Given the description of an element on the screen output the (x, y) to click on. 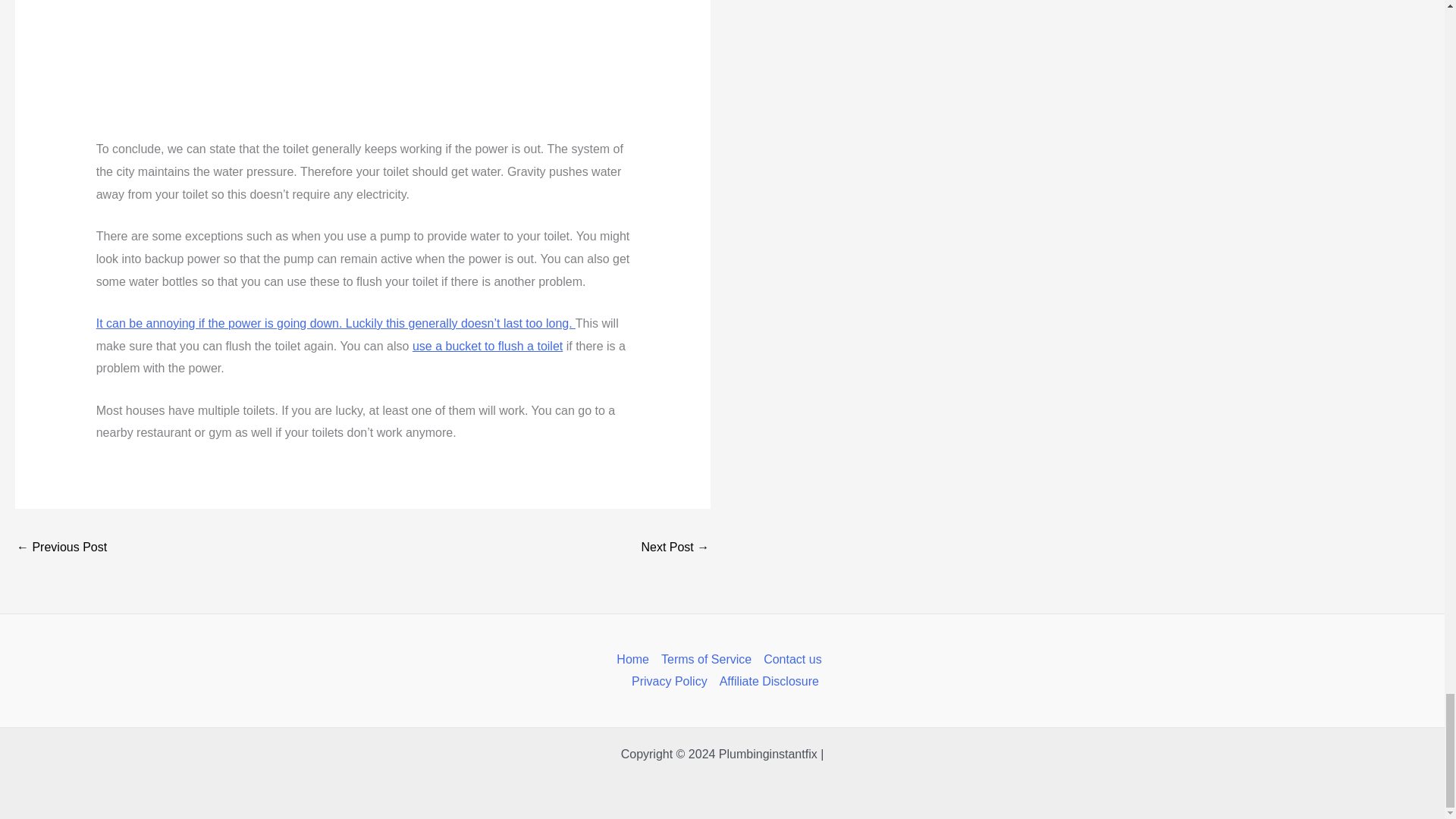
Terms of Service (706, 659)
Home (635, 659)
use a bucket to flush a toilet (487, 345)
Contact us (792, 659)
